Given the description of an element on the screen output the (x, y) to click on. 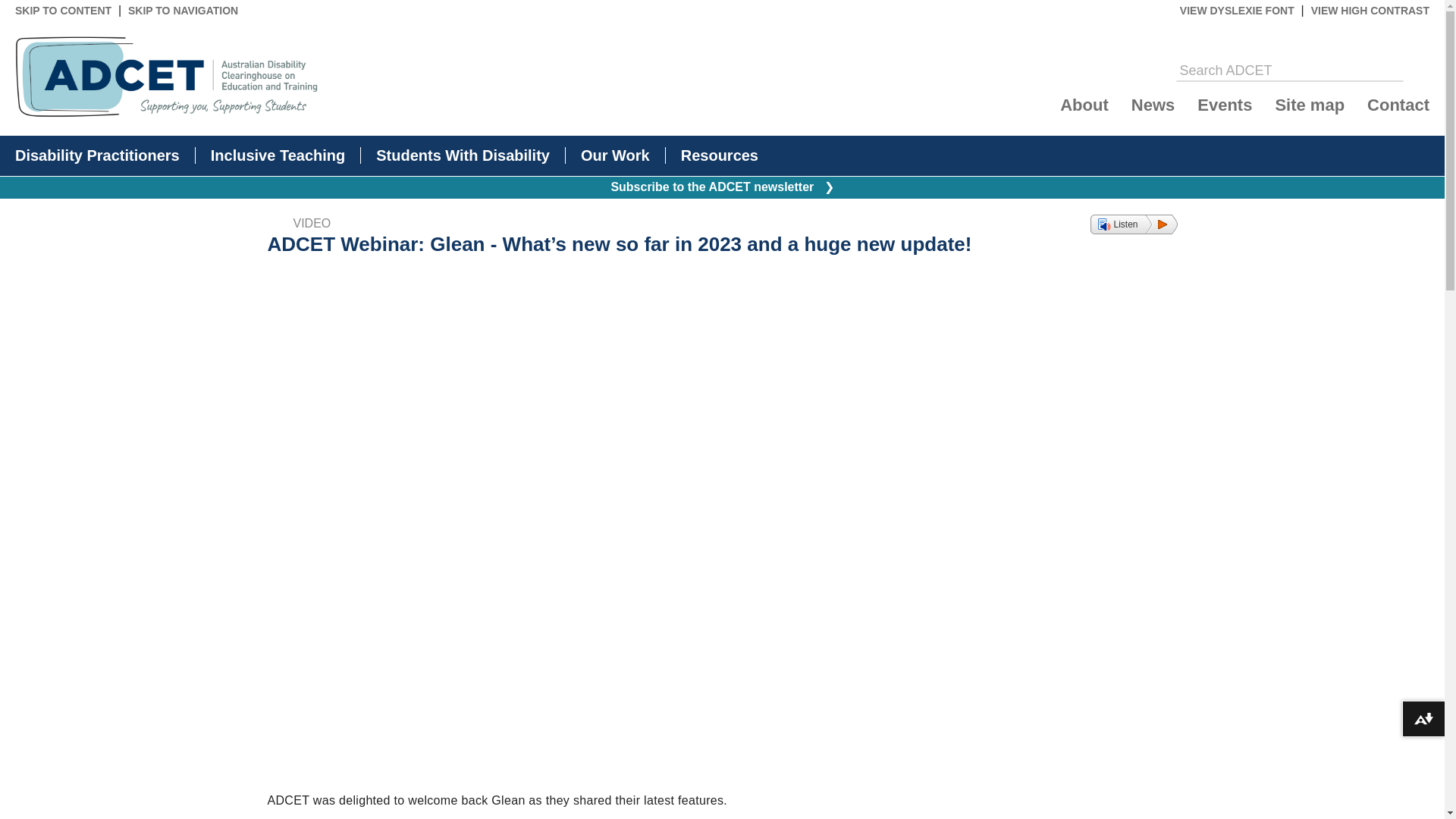
Disability Practitioners (97, 155)
Students With Disability (463, 155)
VIEW DYSLEXIE FONT (1236, 10)
Inclusive Teaching (278, 155)
SKIP TO CONTENT (63, 10)
Listen to this page using ReadSpeaker (1133, 224)
VIEW HIGH CONTRAST (1370, 10)
SKIP TO NAVIGATION (183, 10)
